Given the description of an element on the screen output the (x, y) to click on. 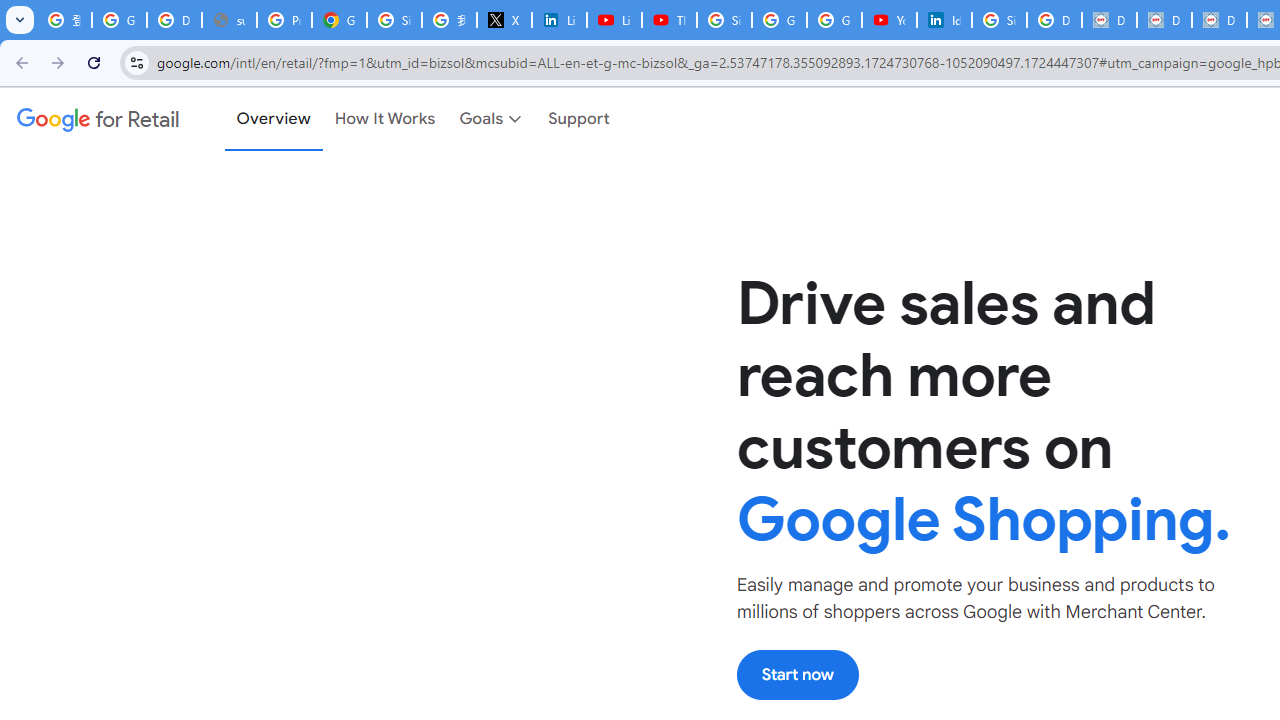
Goals (491, 119)
Google for Retail (98, 119)
X (504, 20)
Sign in - Google Accounts (724, 20)
support.google.com - Network error (229, 20)
Goals (491, 119)
Data Privacy Framework (1218, 20)
How It Works (385, 119)
